Given the description of an element on the screen output the (x, y) to click on. 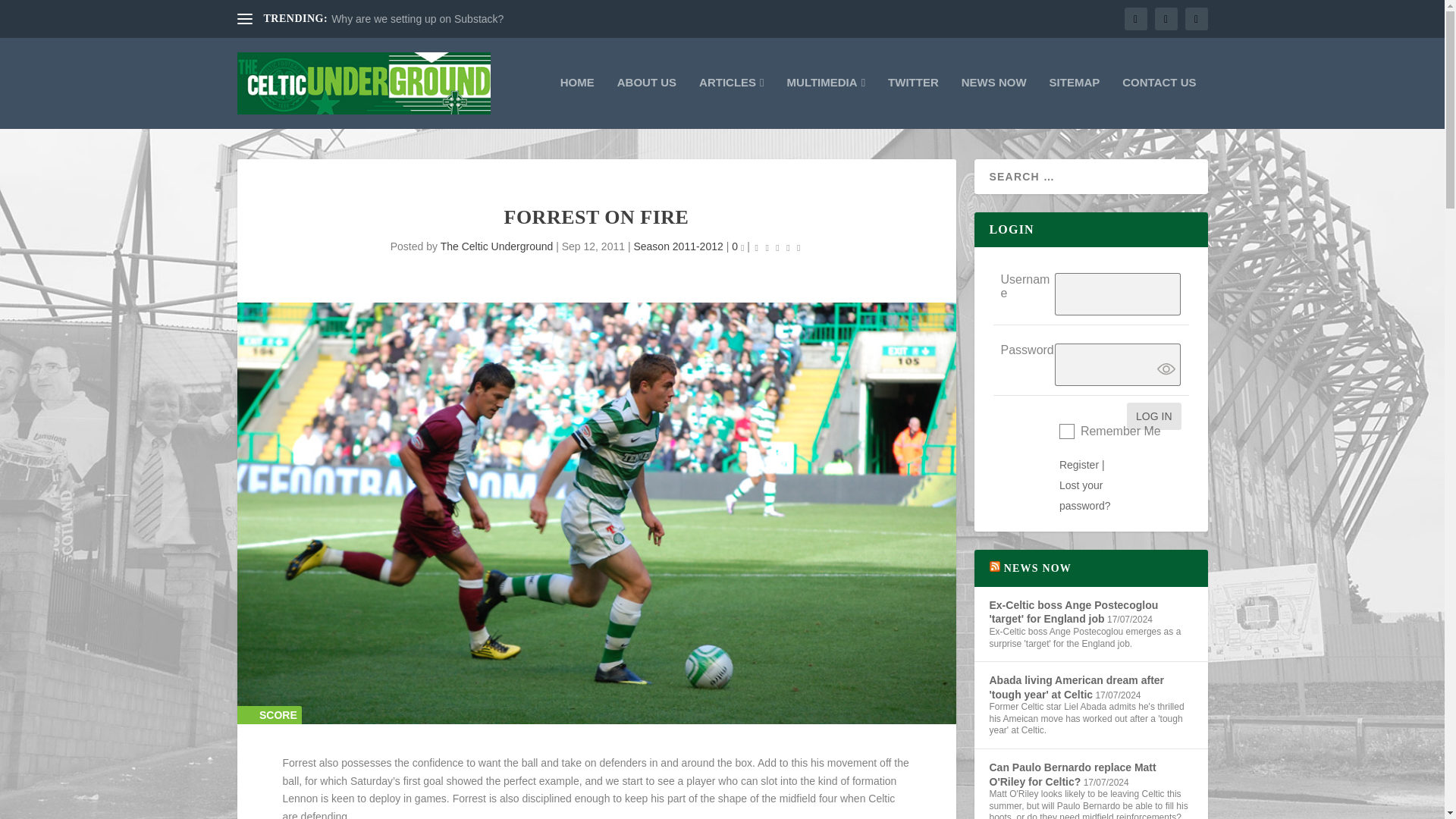
comment count (742, 248)
Rating: 0.00 (777, 247)
Why are we setting up on Substack? (417, 19)
Posts by The Celtic Underground (497, 246)
Log In (1153, 415)
